Given the description of an element on the screen output the (x, y) to click on. 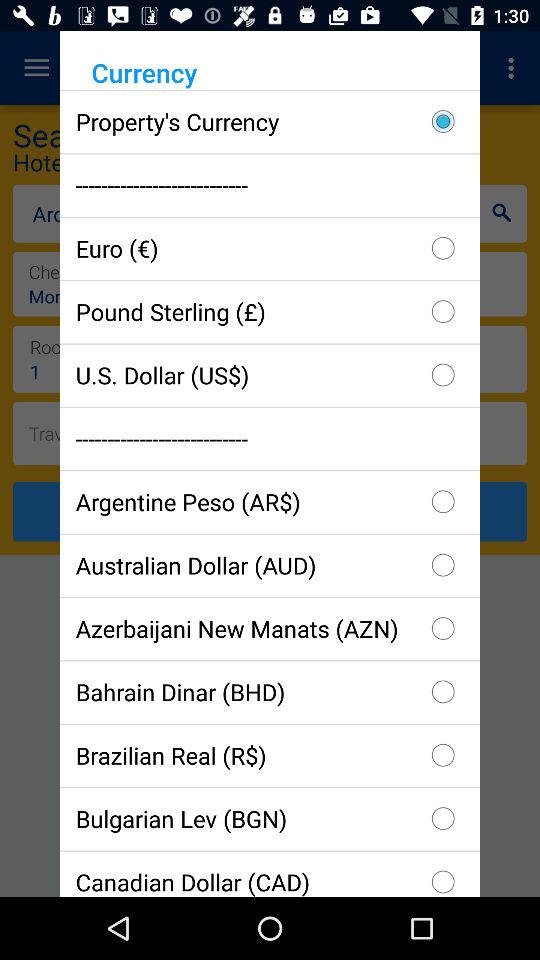
tap the checkbox above the australian dollar (aud) item (270, 501)
